Given the description of an element on the screen output the (x, y) to click on. 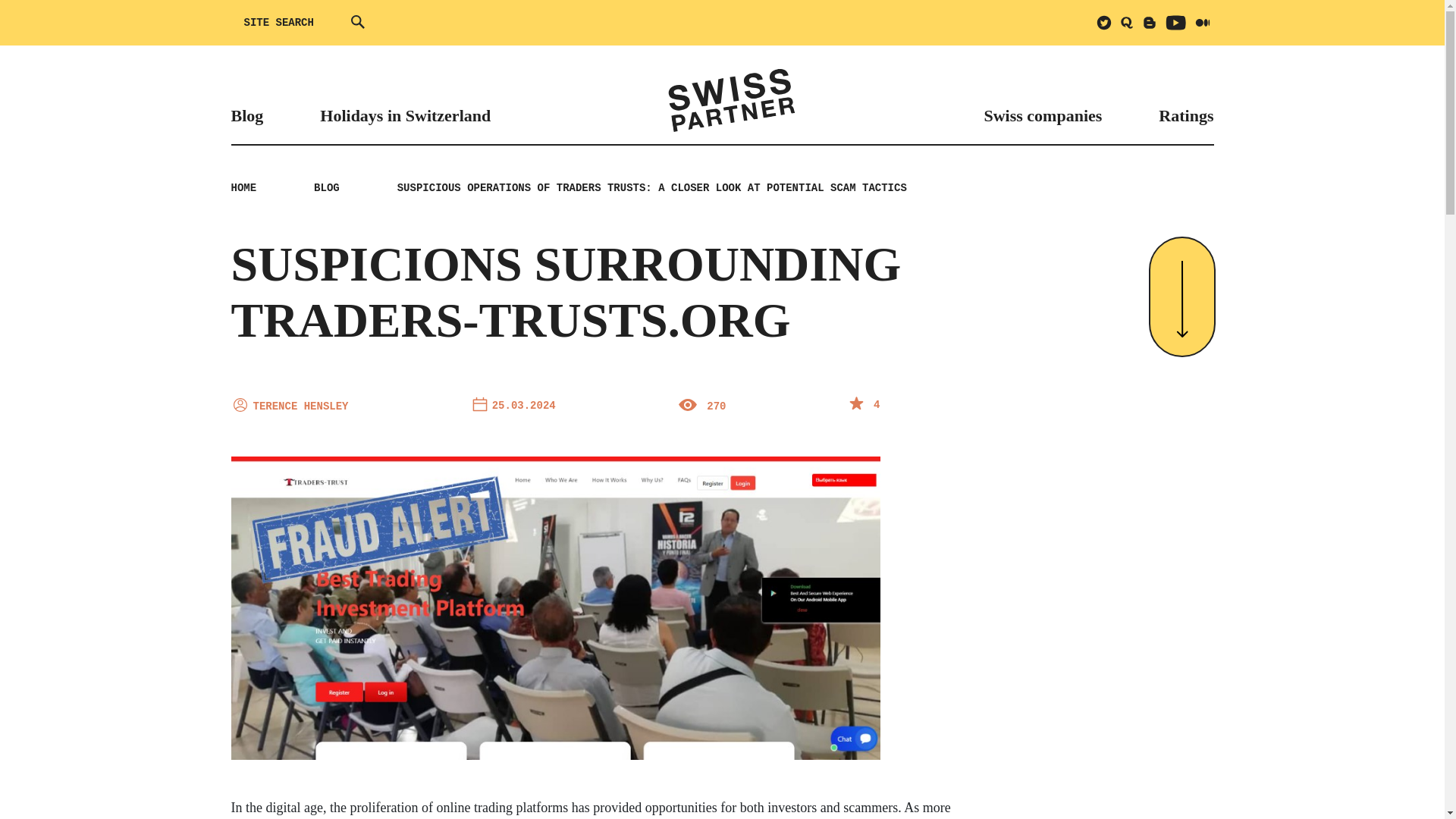
HOME (243, 187)
Twitter (1104, 22)
Holidays in Switzerland (405, 115)
Quora (1126, 22)
WATCHED (687, 404)
cal (479, 403)
Blog (246, 115)
YouTube (1176, 22)
Blogger (1149, 22)
Swiss companies (1043, 115)
Medium (1202, 22)
name (239, 404)
Ratings (1185, 115)
star (855, 403)
